Given the description of an element on the screen output the (x, y) to click on. 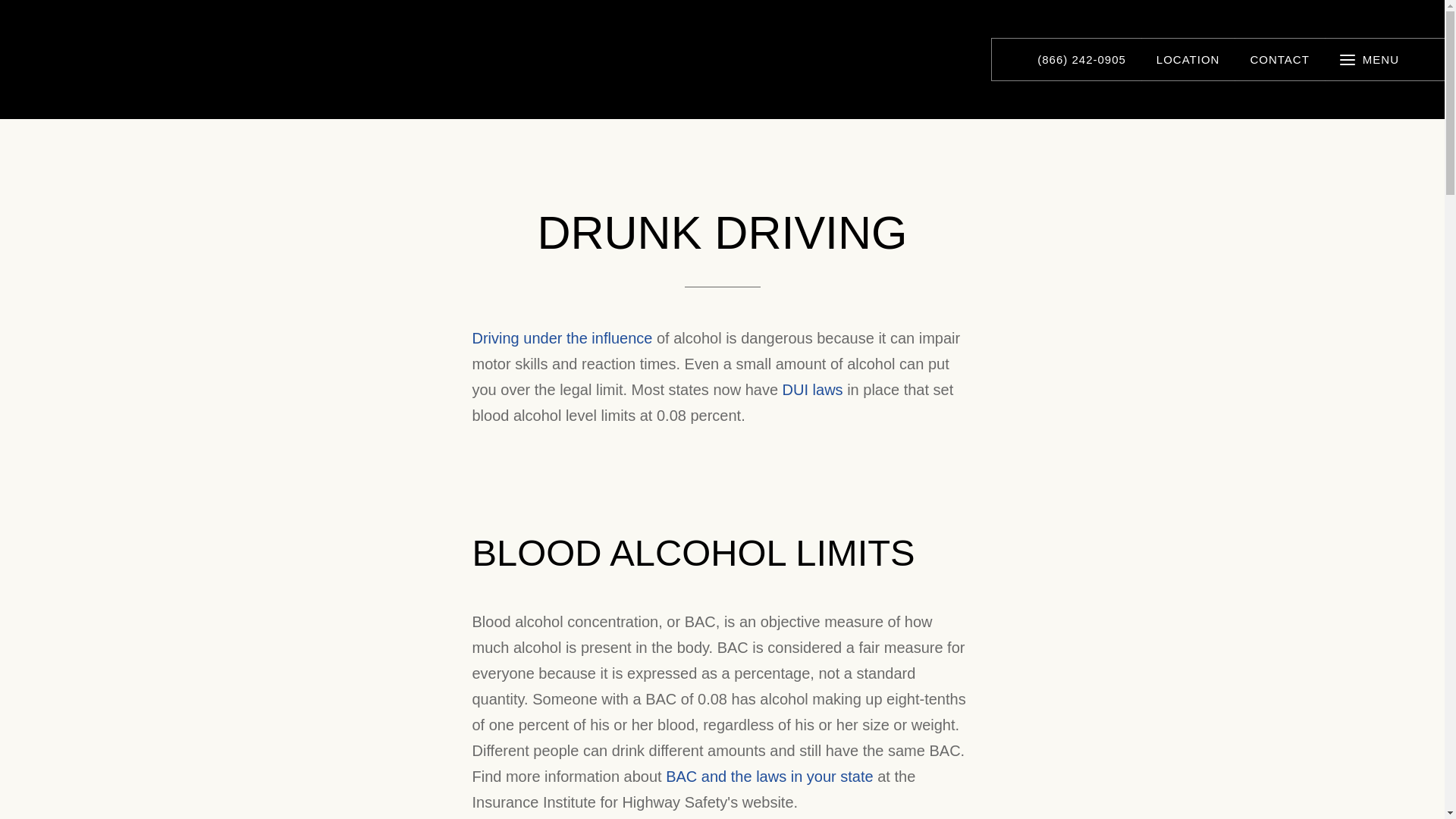
BAC and the laws in your state (768, 776)
Driving under the influence (561, 338)
LOCATION (1188, 59)
CONTACT (1279, 59)
DUI laws (813, 389)
